Given the description of an element on the screen output the (x, y) to click on. 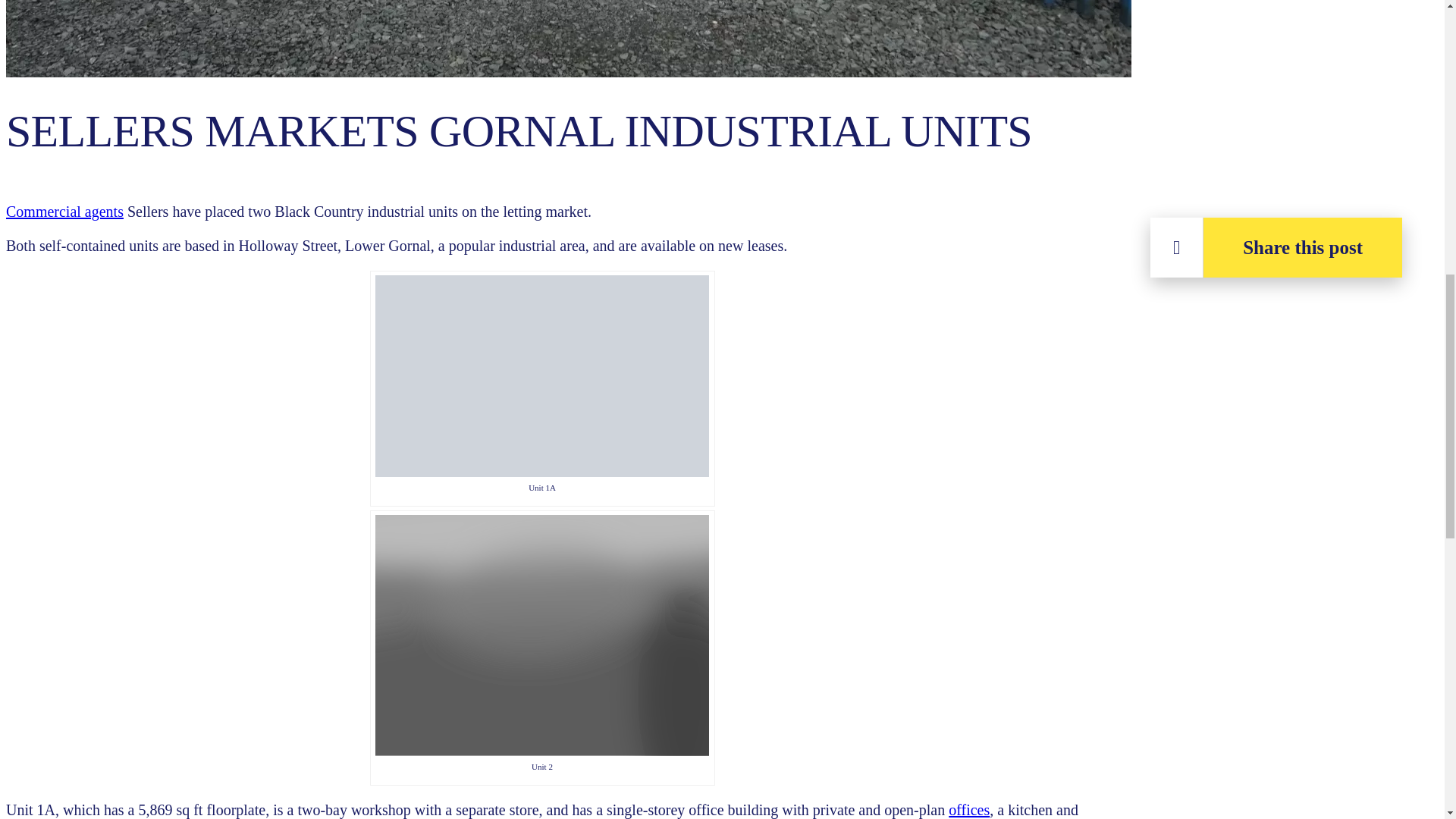
SELLERS MARKETS GORNAL INDUSTRIAL UNITS 1 (542, 375)
SELLERS MARKETS GORNAL INDUSTRIAL UNITS 2 (542, 635)
Commercial agents (64, 211)
